Given the description of an element on the screen output the (x, y) to click on. 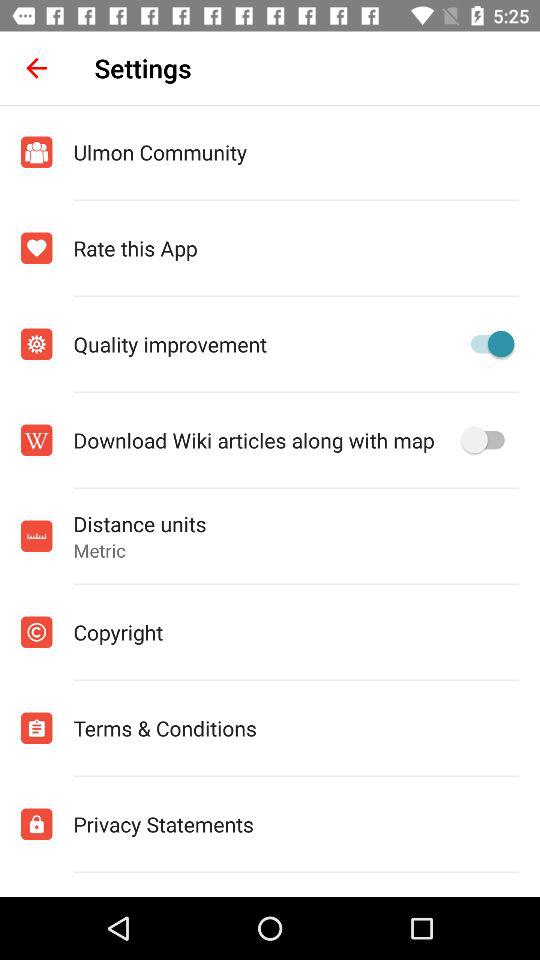
click the icon next to settings (36, 68)
